Given the description of an element on the screen output the (x, y) to click on. 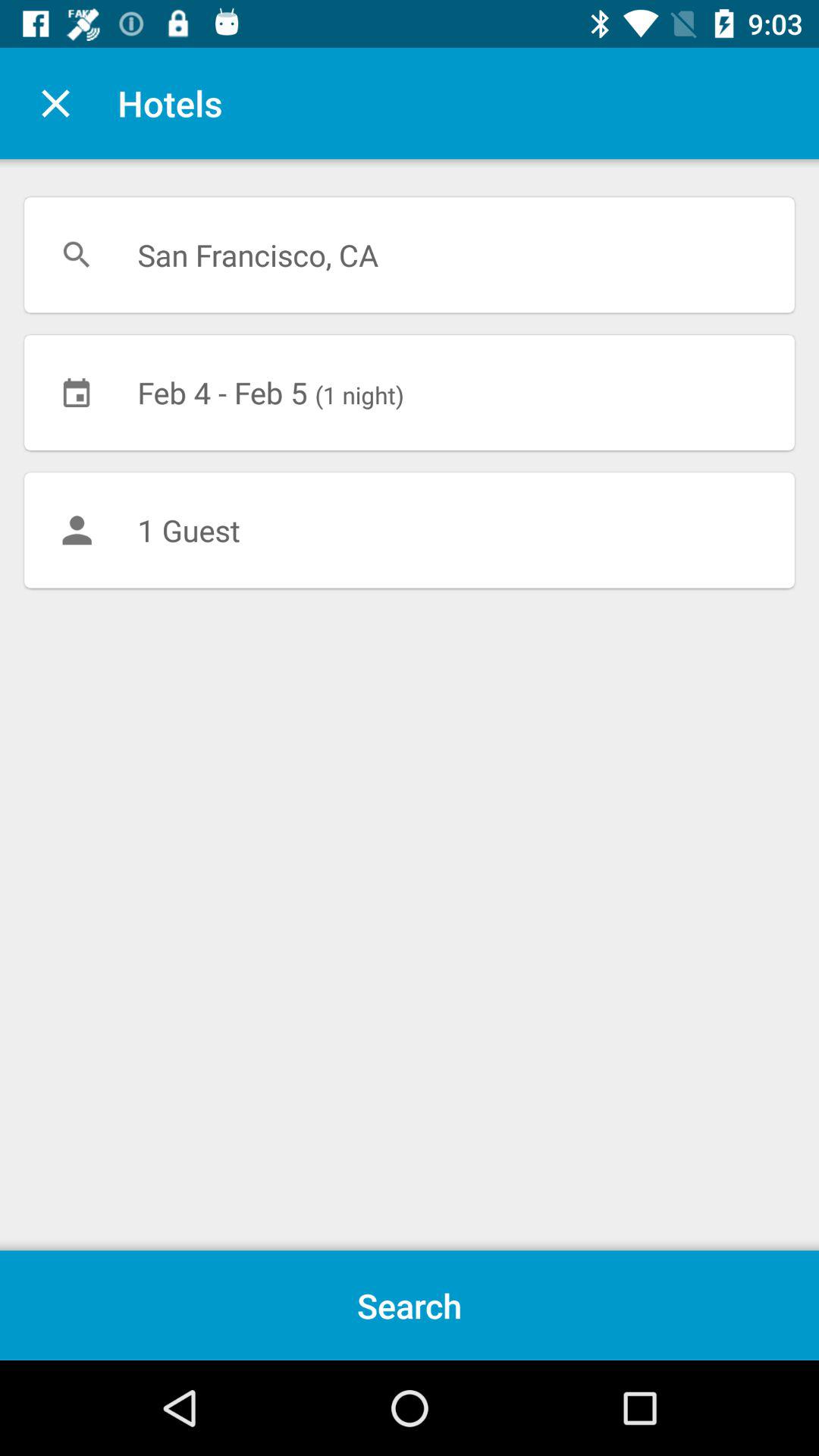
click the feb 4 feb icon (409, 392)
